Given the description of an element on the screen output the (x, y) to click on. 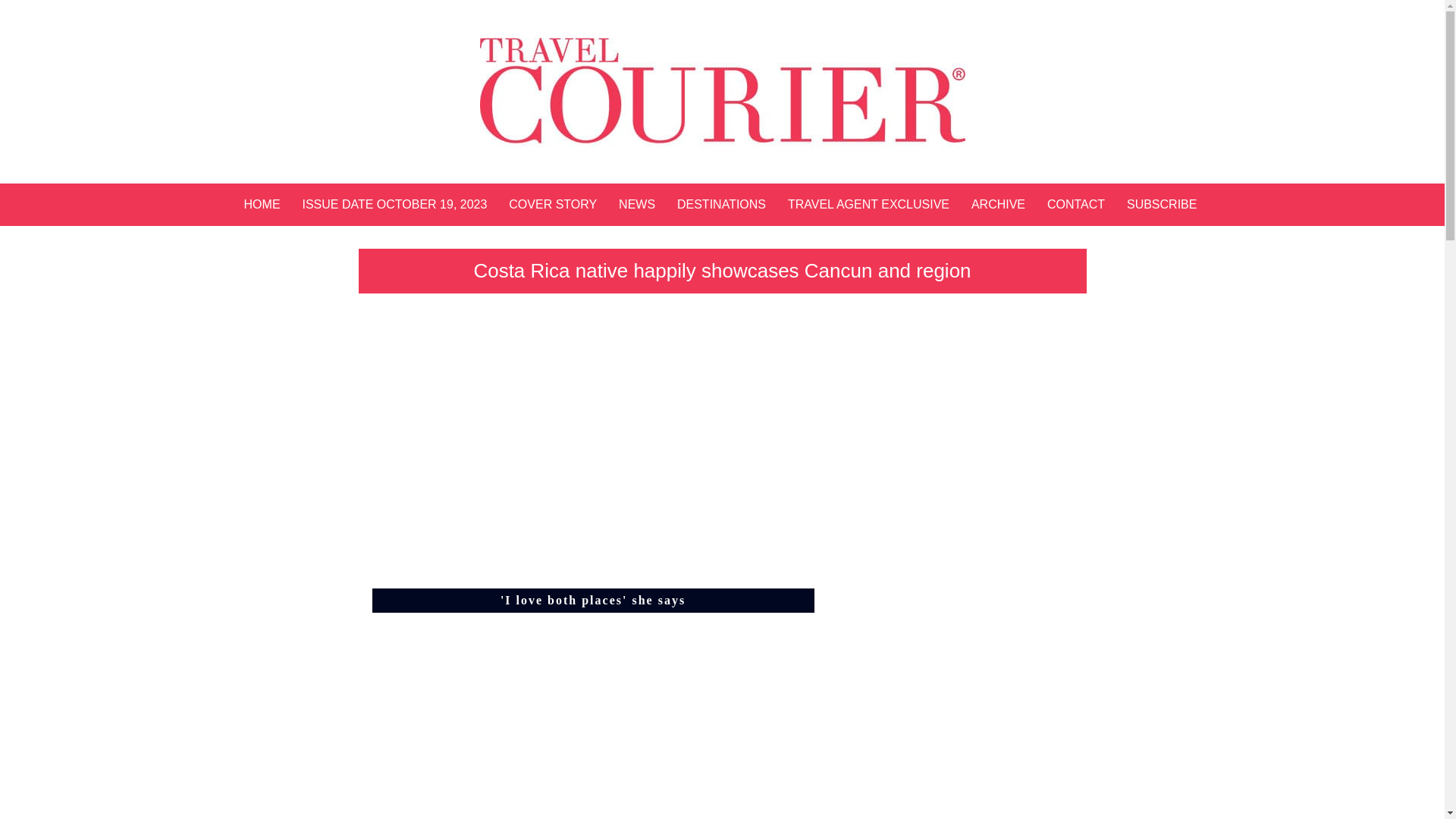
DESTINATIONS (721, 201)
SUBSCRIBE (1161, 201)
COVER STORY (552, 201)
CONTACT (1075, 201)
NEWS (636, 201)
HOME (262, 201)
TRAVEL AGENT EXCLUSIVE (868, 201)
ARCHIVE (997, 201)
ISSUE DATE OCTOBER 19, 2023 (393, 201)
